Given the description of an element on the screen output the (x, y) to click on. 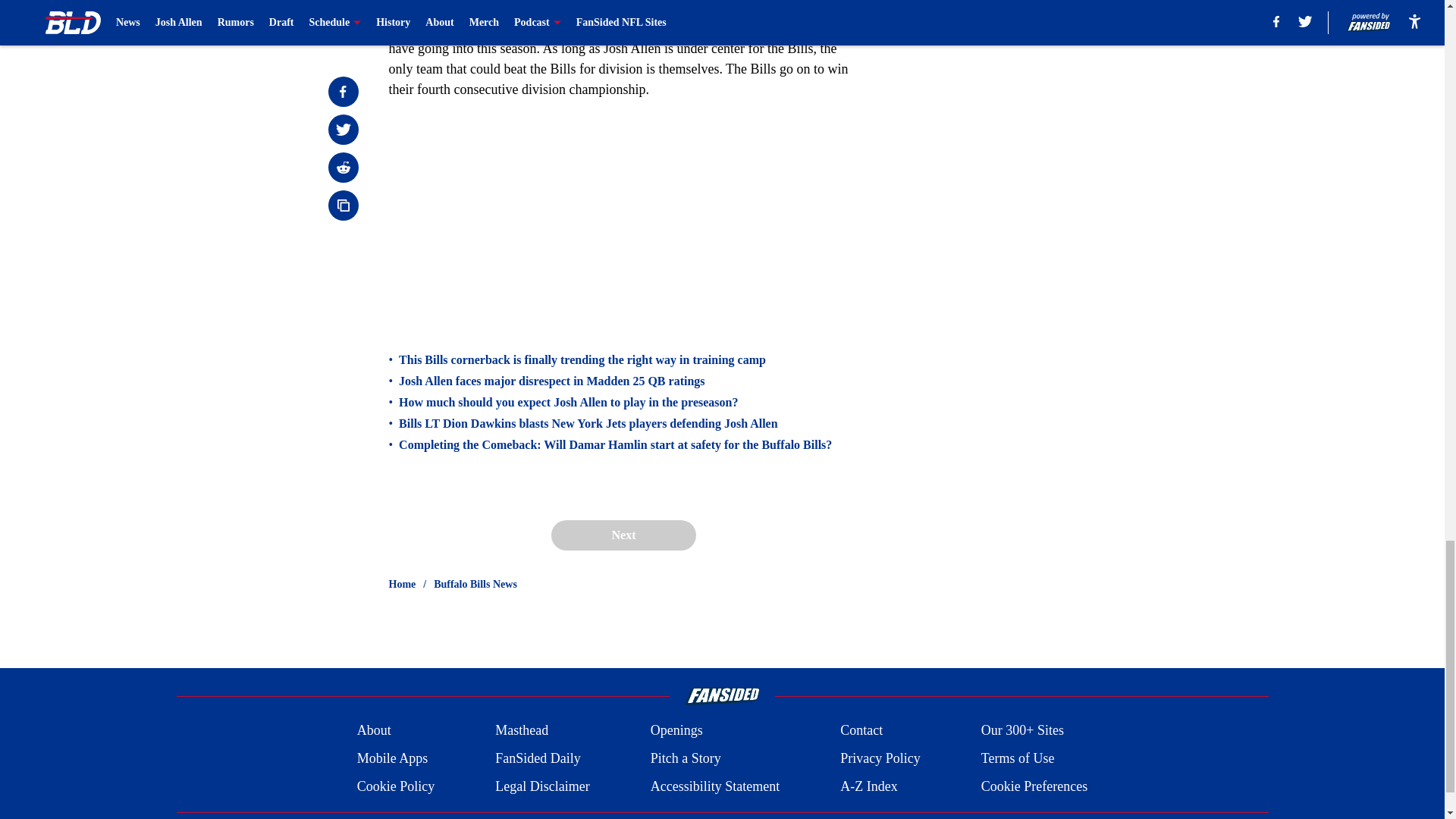
Masthead (521, 730)
Buffalo Bills News (474, 584)
Josh Allen faces major disrespect in Madden 25 QB ratings (551, 381)
Next (622, 535)
About (373, 730)
Contact (861, 730)
Openings (676, 730)
Home (401, 584)
